Given the description of an element on the screen output the (x, y) to click on. 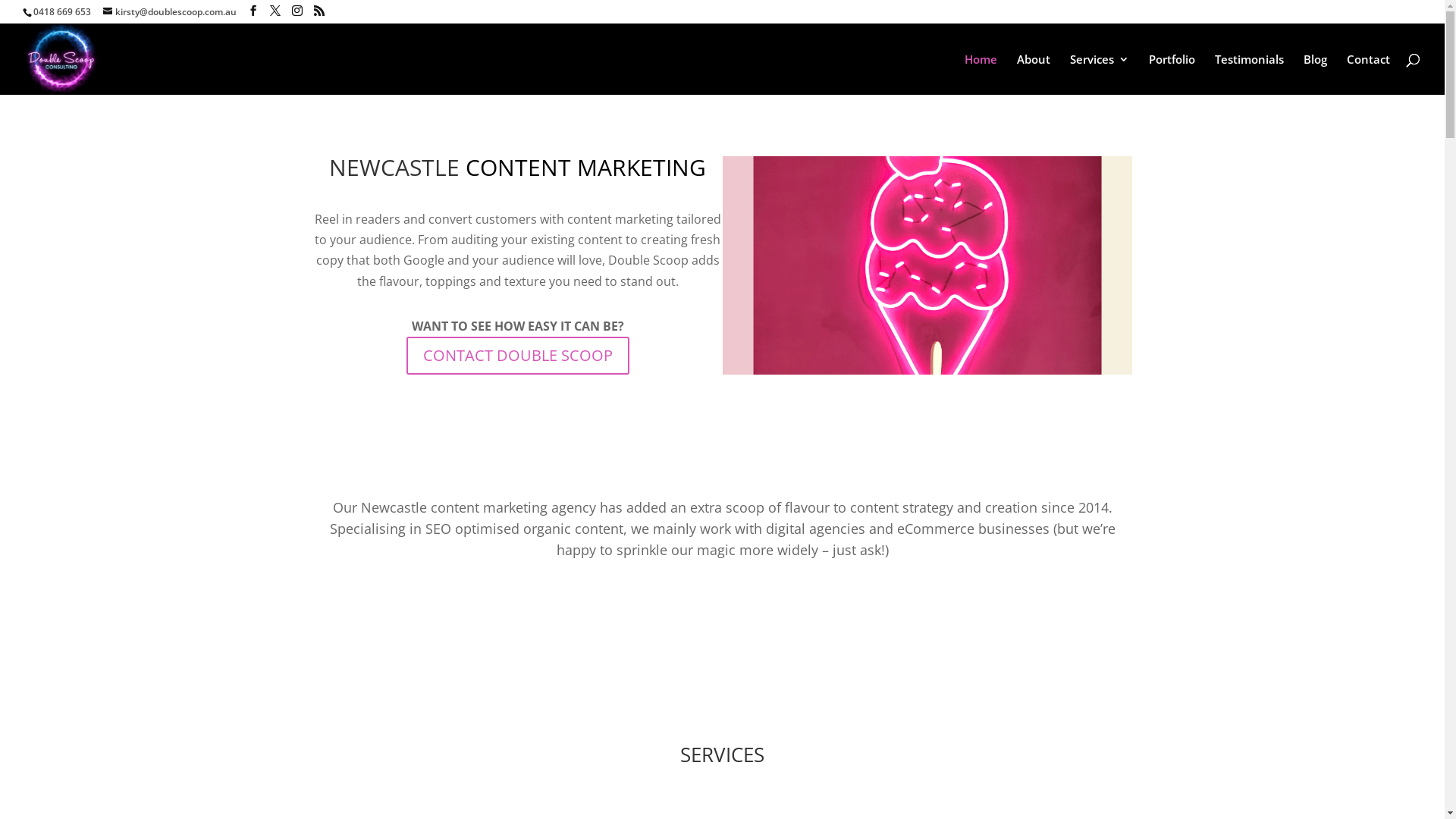
Testimonials Element type: text (1248, 73)
Contact Element type: text (1368, 73)
Home Element type: text (980, 73)
Blog Element type: text (1315, 73)
CONTACT DOUBLE SCOOP Element type: text (517, 355)
About Element type: text (1033, 73)
kirsty@doublescoop.com.au Element type: text (169, 11)
Services Element type: text (1099, 73)
About Element type: text (721, 602)
Portfolio Element type: text (1171, 73)
